Given the description of an element on the screen output the (x, y) to click on. 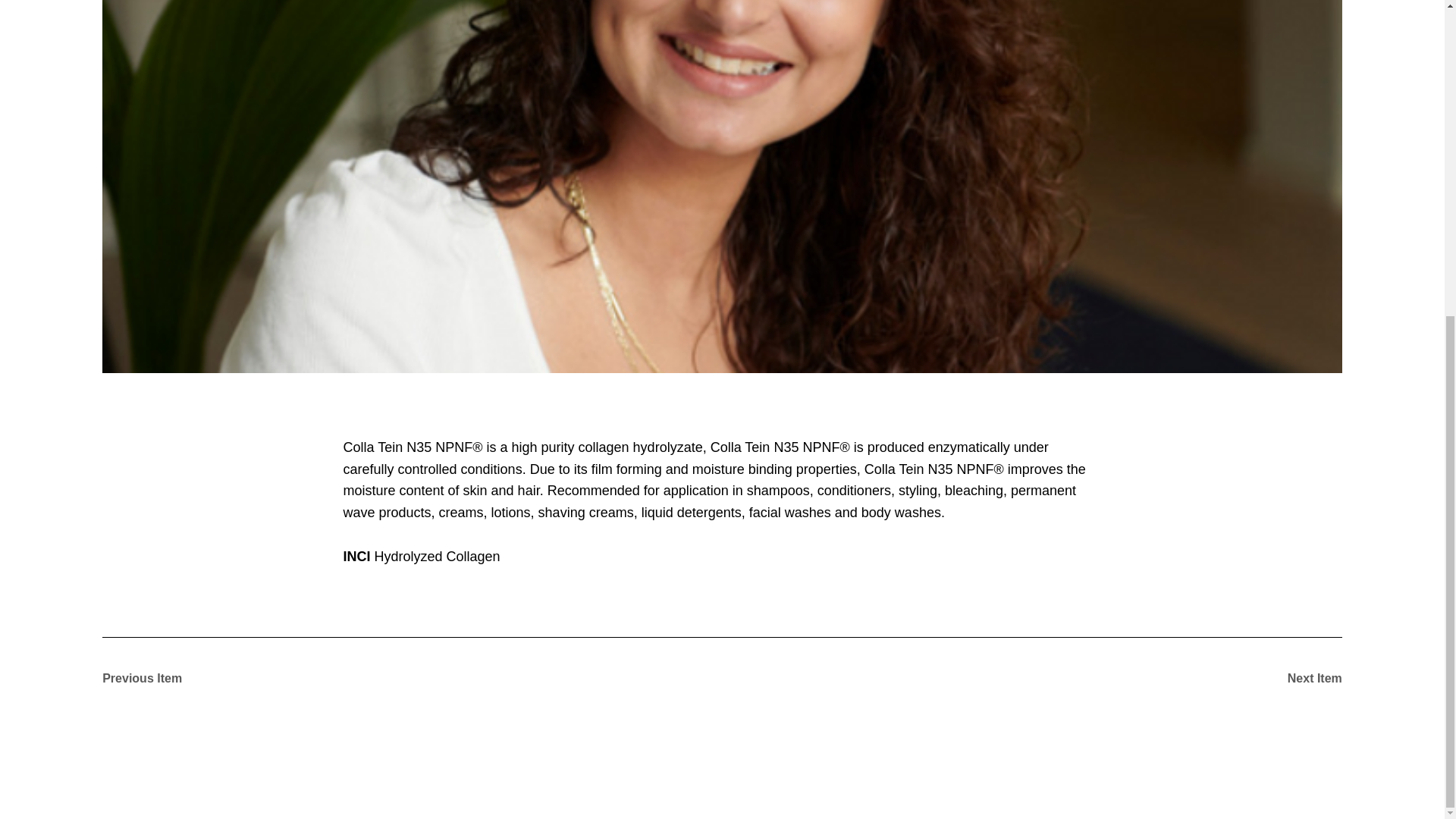
Next Item (1288, 678)
Previous Item (155, 678)
